Given the description of an element on the screen output the (x, y) to click on. 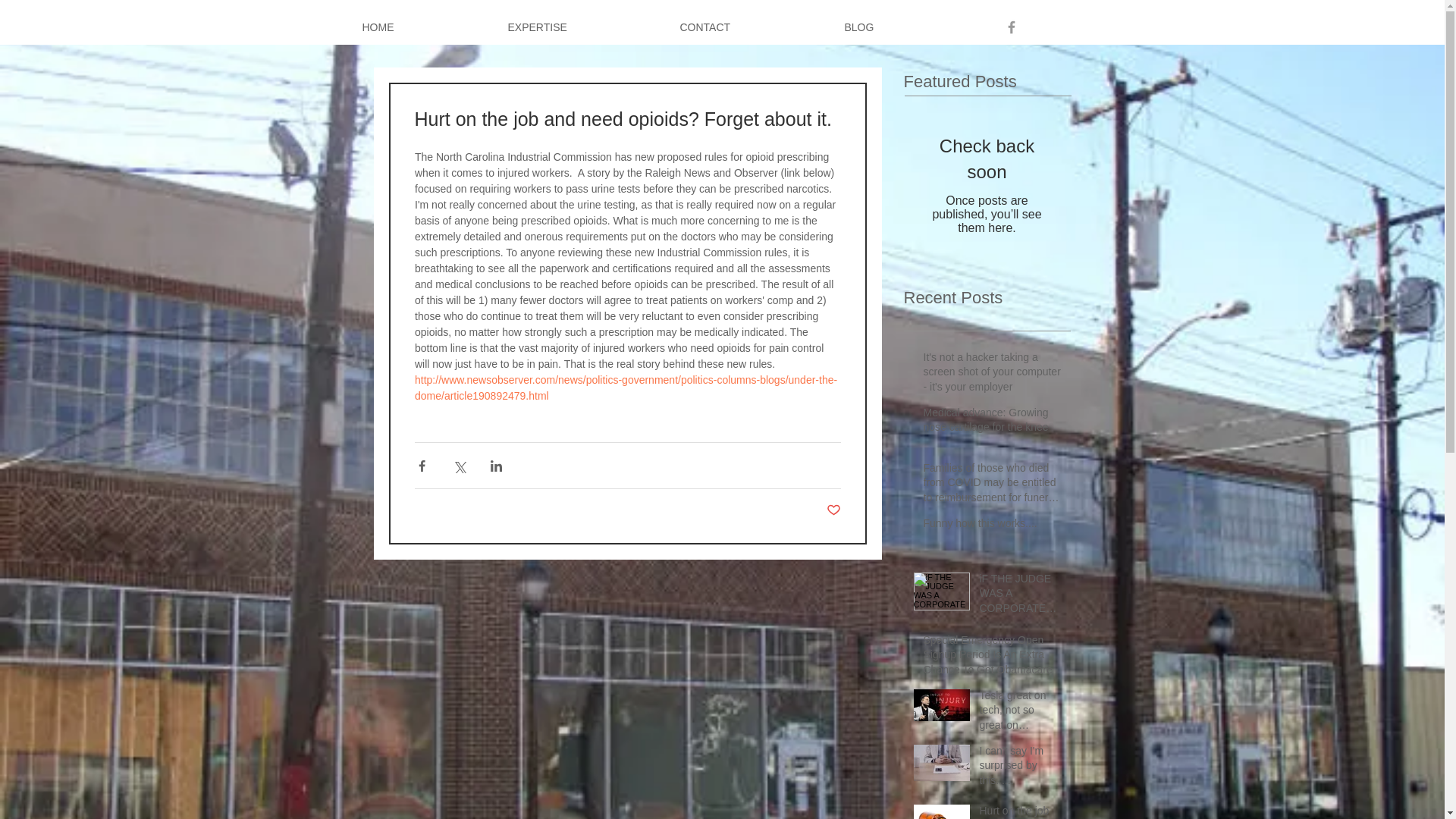
CONTACT (750, 26)
I can't say I'm surprised by this...... (1020, 768)
BLOG (903, 26)
Funny how this works.... (992, 526)
Post not marked as liked (834, 510)
EXPERTISE (582, 26)
Tesla great on tech, not so great on employee safety (1020, 713)
Hurt on the job and need opioids? Forget about it. (1020, 811)
HOME (423, 26)
Medical advance: Growing nose cartilage for the knee (992, 423)
